Given the description of an element on the screen output the (x, y) to click on. 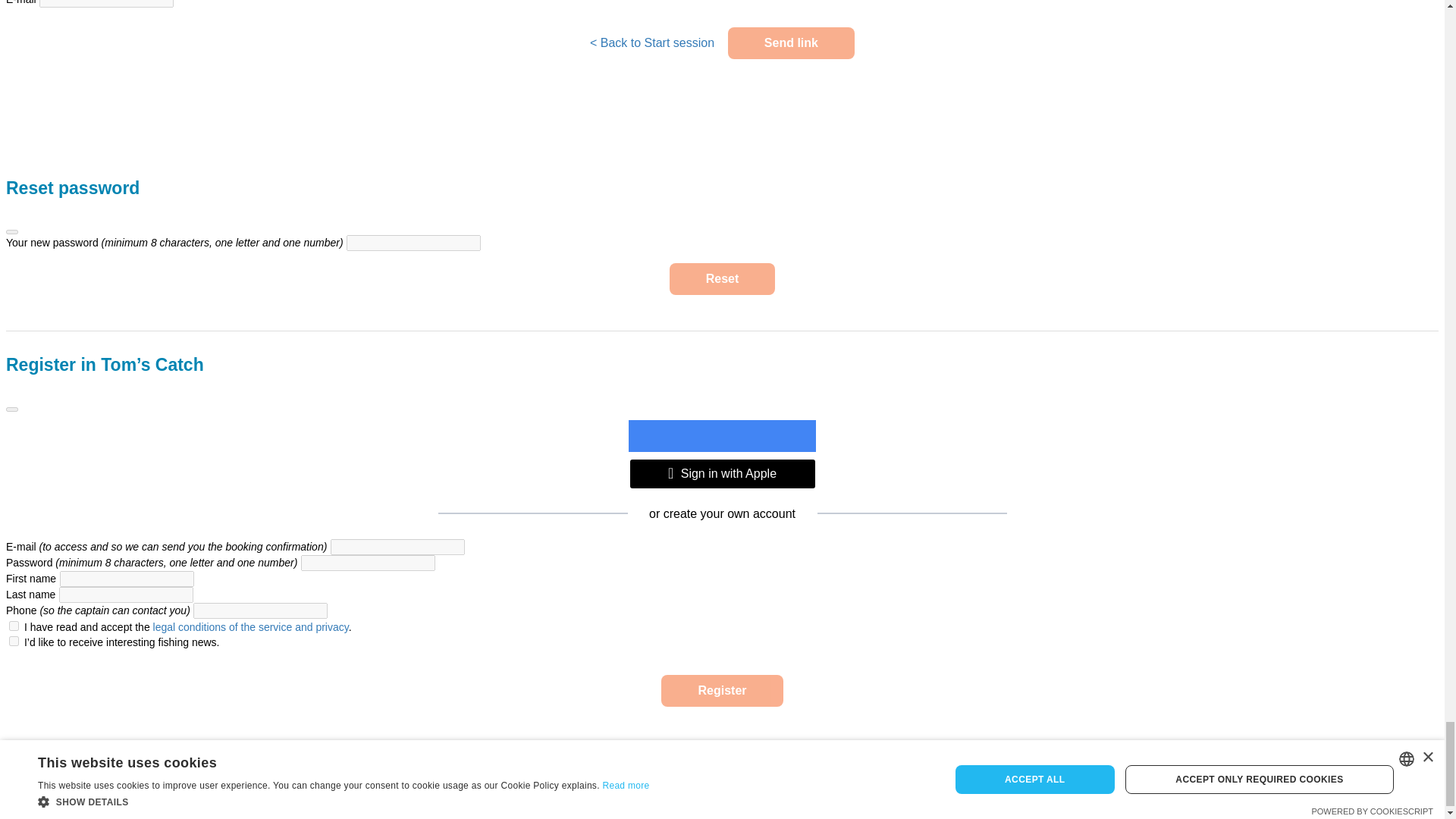
Continue with Google (721, 436)
1 (13, 641)
on (13, 625)
